Given the description of an element on the screen output the (x, y) to click on. 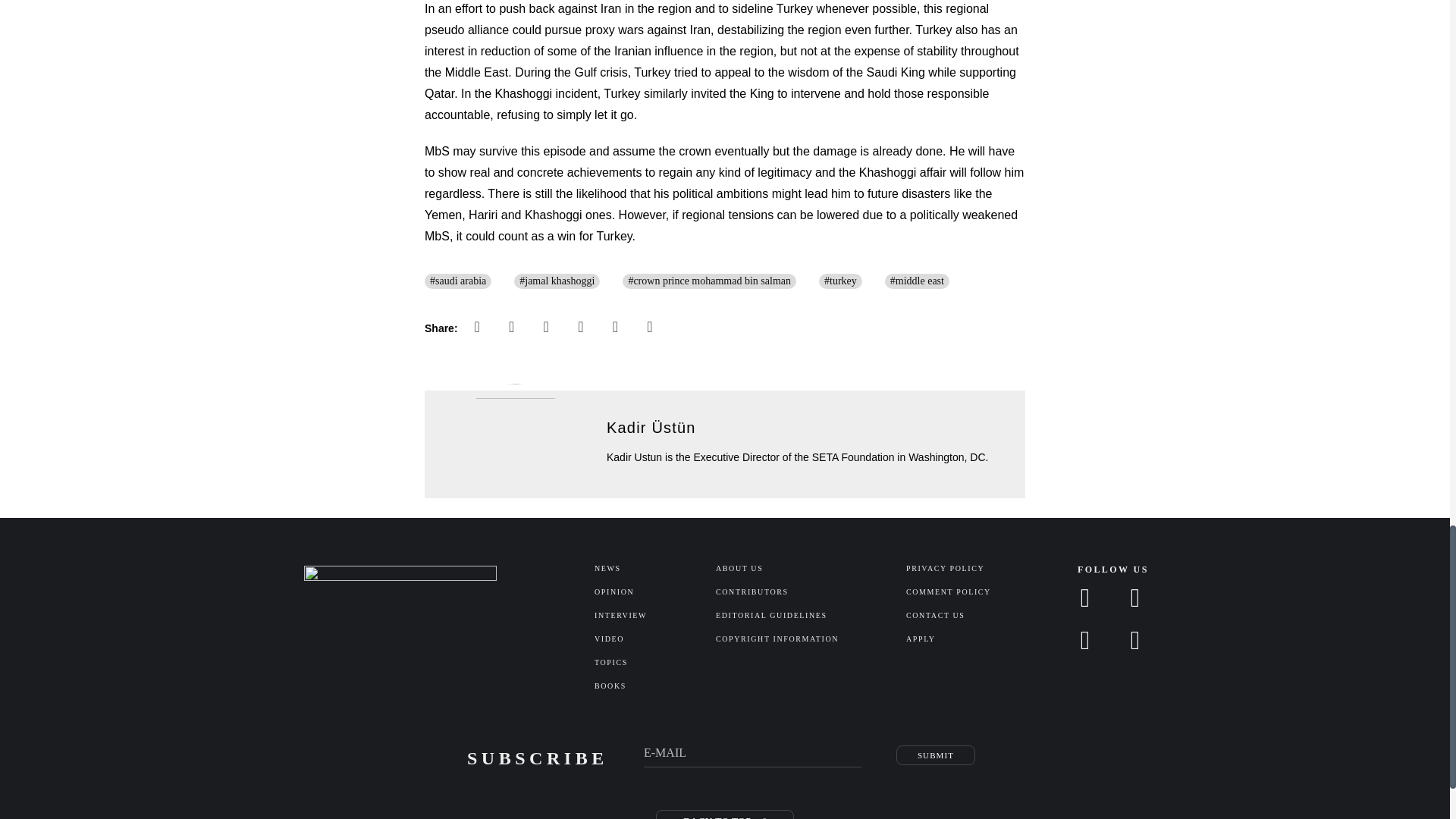
BACK TO TOP (724, 814)
Submit (935, 754)
